Given the description of an element on the screen output the (x, y) to click on. 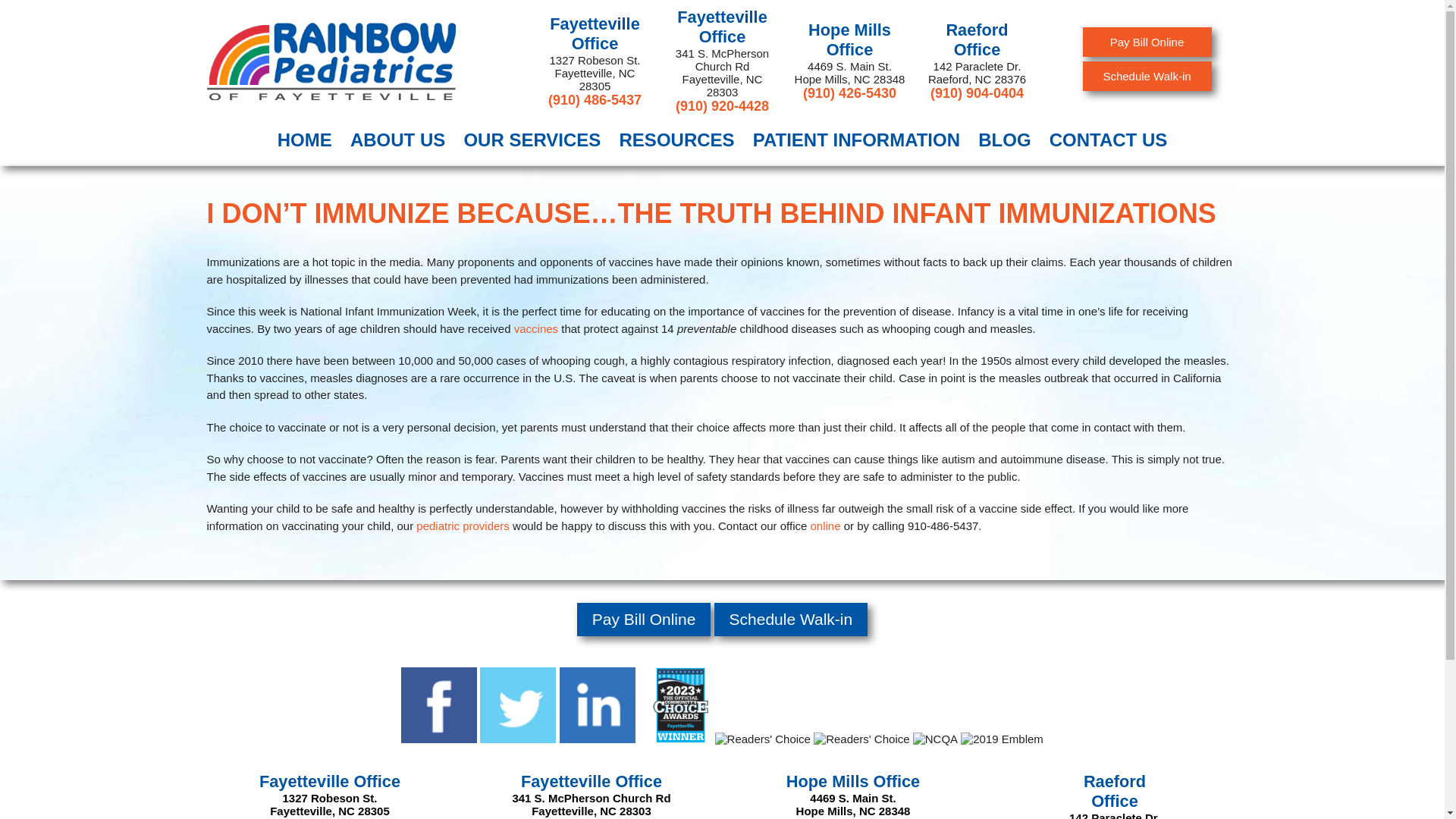
BLOG (1004, 144)
vaccines (535, 327)
Pay Bill Online (643, 619)
ABOUT US (397, 144)
RESOURCES (676, 144)
Schedule Walk-in (790, 619)
online (824, 524)
HOME (304, 144)
OUR SERVICES (531, 144)
Schedule Walk-in (1147, 75)
PATIENT INFORMATION (856, 144)
CONTACT US (1108, 144)
Pay Bill Online (1147, 41)
pediatric providers (462, 524)
